Given the description of an element on the screen output the (x, y) to click on. 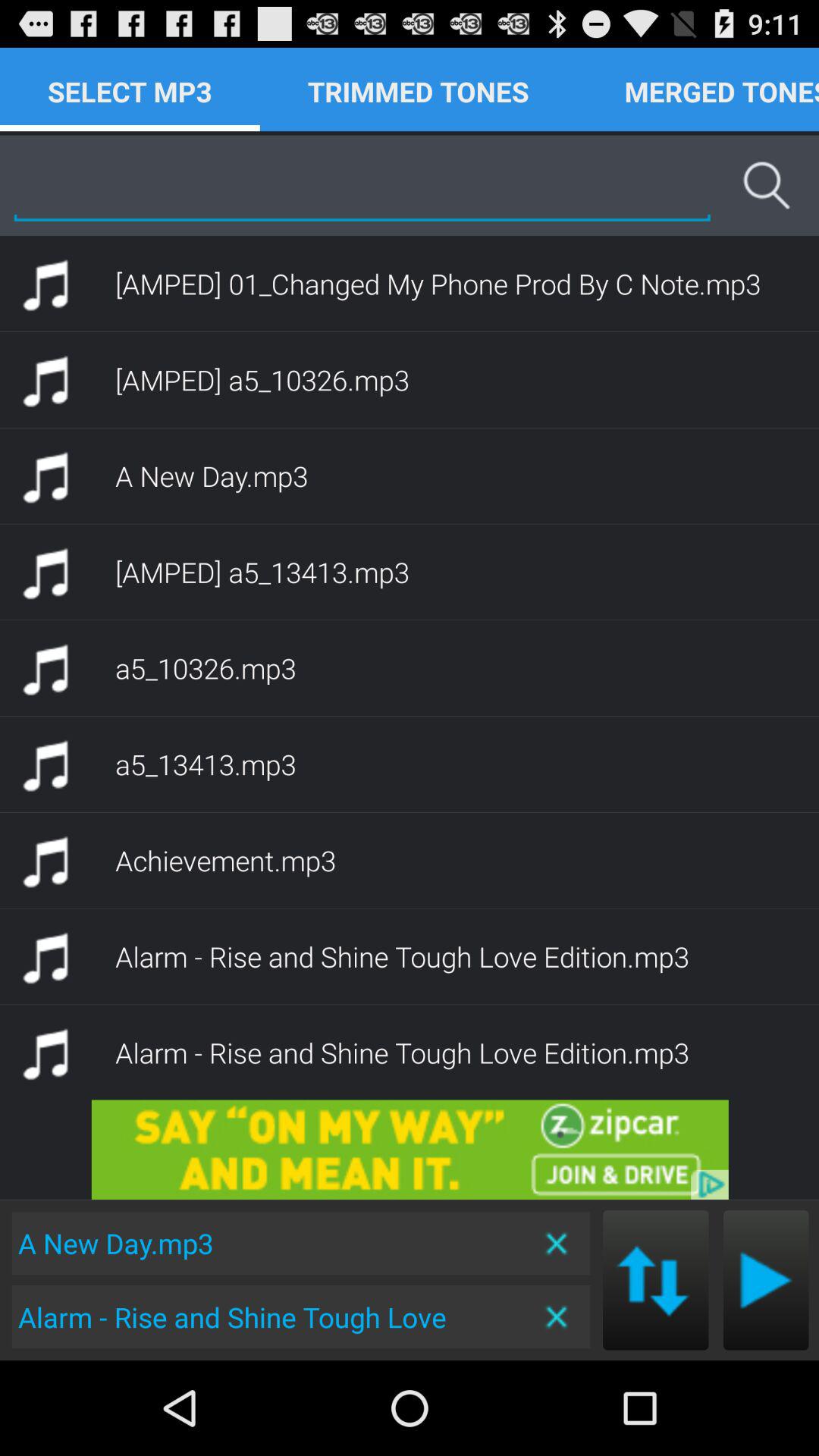
pasta de musicas (766, 1280)
